Given the description of an element on the screen output the (x, y) to click on. 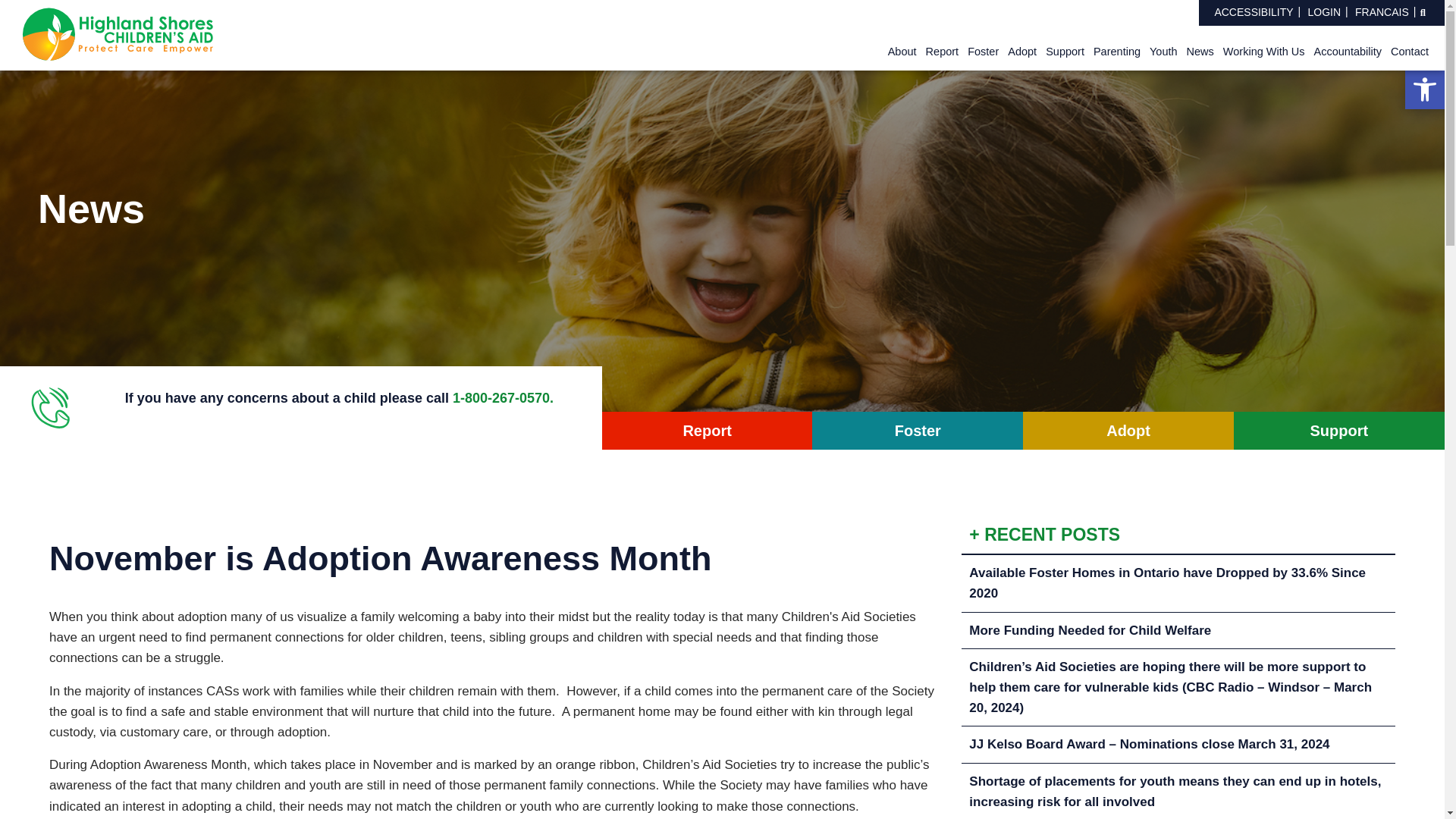
Accessibility Tools (1424, 88)
